Given the description of an element on the screen output the (x, y) to click on. 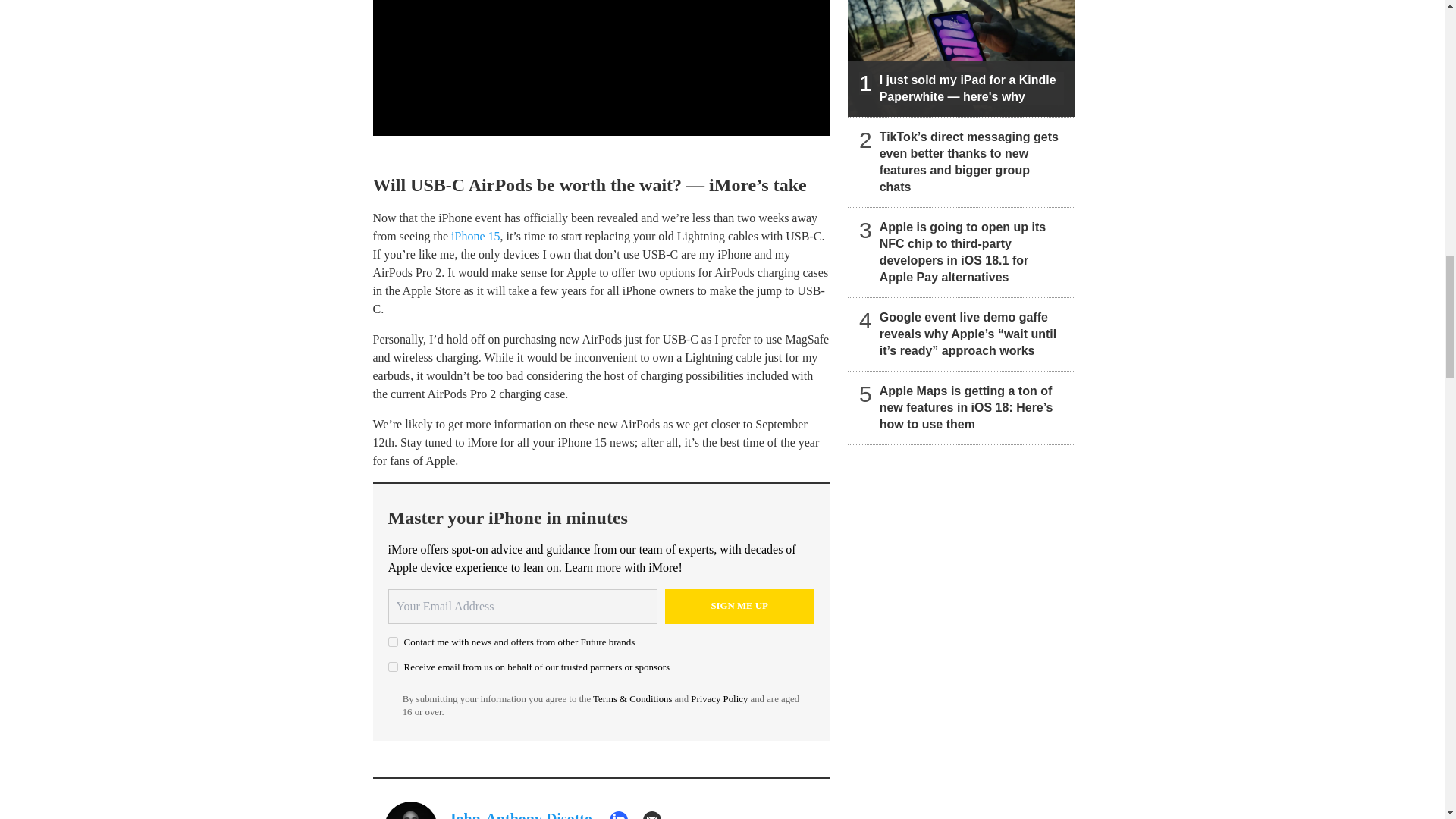
on (392, 642)
on (392, 666)
Sign me up (739, 606)
